Given the description of an element on the screen output the (x, y) to click on. 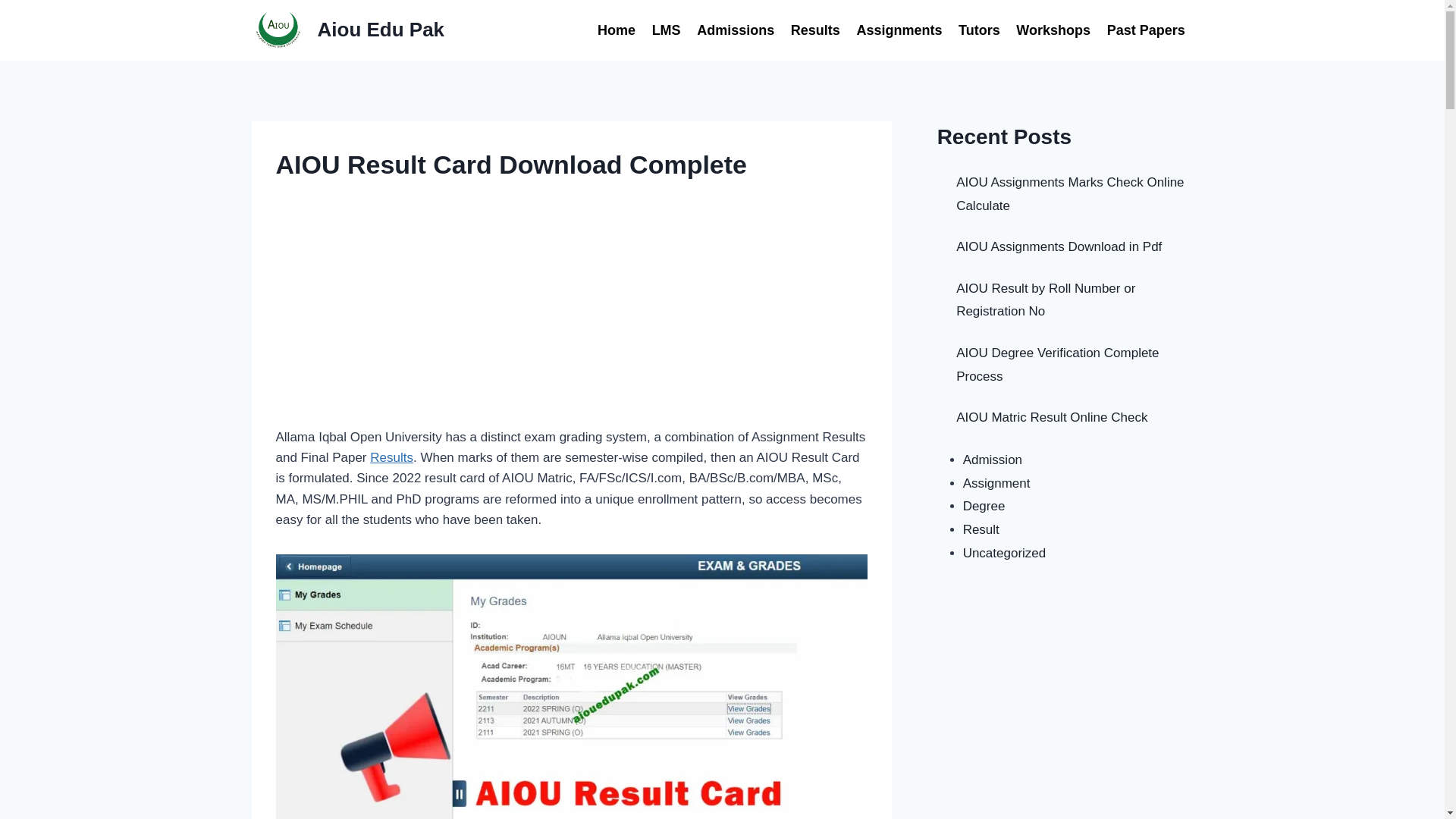
Past Papers (1146, 30)
Assignments (899, 30)
Home (616, 30)
Aiou Edu Pak (348, 29)
Results (391, 457)
LMS (665, 30)
Tutors (978, 30)
Admissions (735, 30)
Results (815, 30)
Advertisement (571, 314)
Workshops (1054, 30)
